Given the description of an element on the screen output the (x, y) to click on. 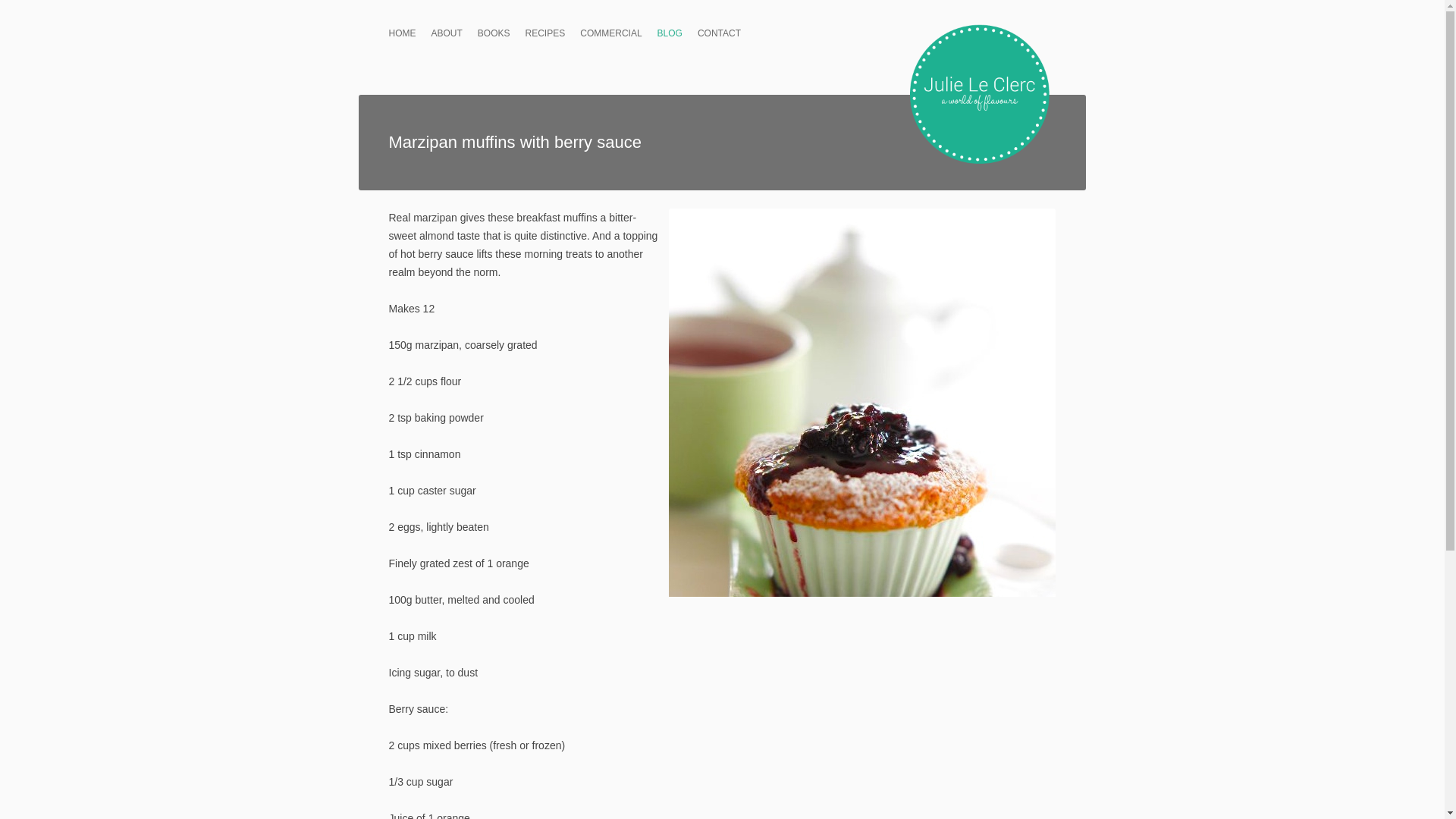
CONTACT (719, 29)
BOOKS (494, 29)
HOME (401, 29)
COMMERCIAL (610, 29)
Skip to content (657, 23)
RECIPES (545, 29)
ABOUT (445, 29)
Julie Le Clerc (979, 99)
BLOG (670, 29)
Skip to content (657, 23)
